Given the description of an element on the screen output the (x, y) to click on. 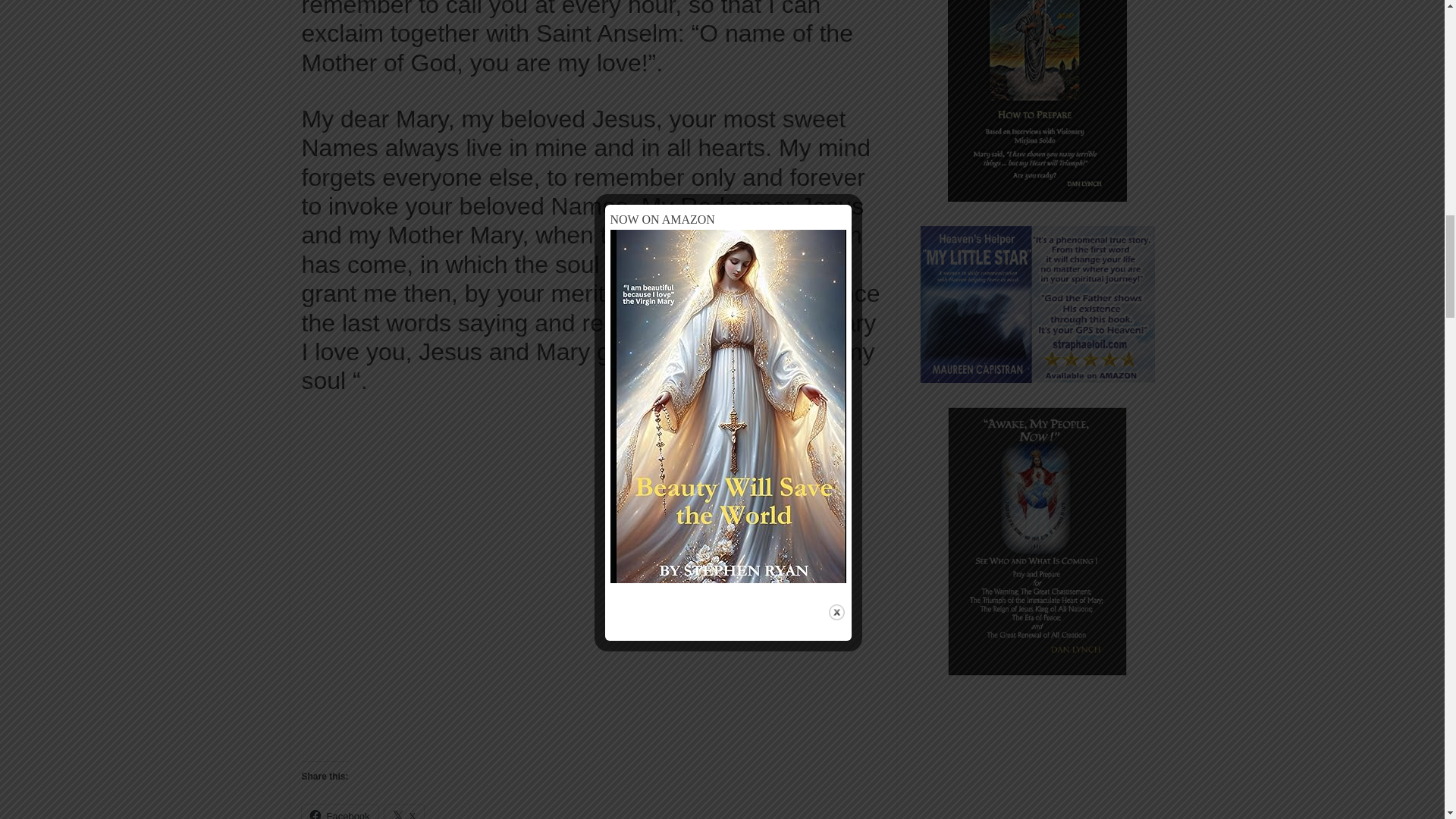
Click to share on Facebook (339, 811)
Facebook (339, 811)
X (404, 811)
Click to share on X (404, 811)
